Given the description of an element on the screen output the (x, y) to click on. 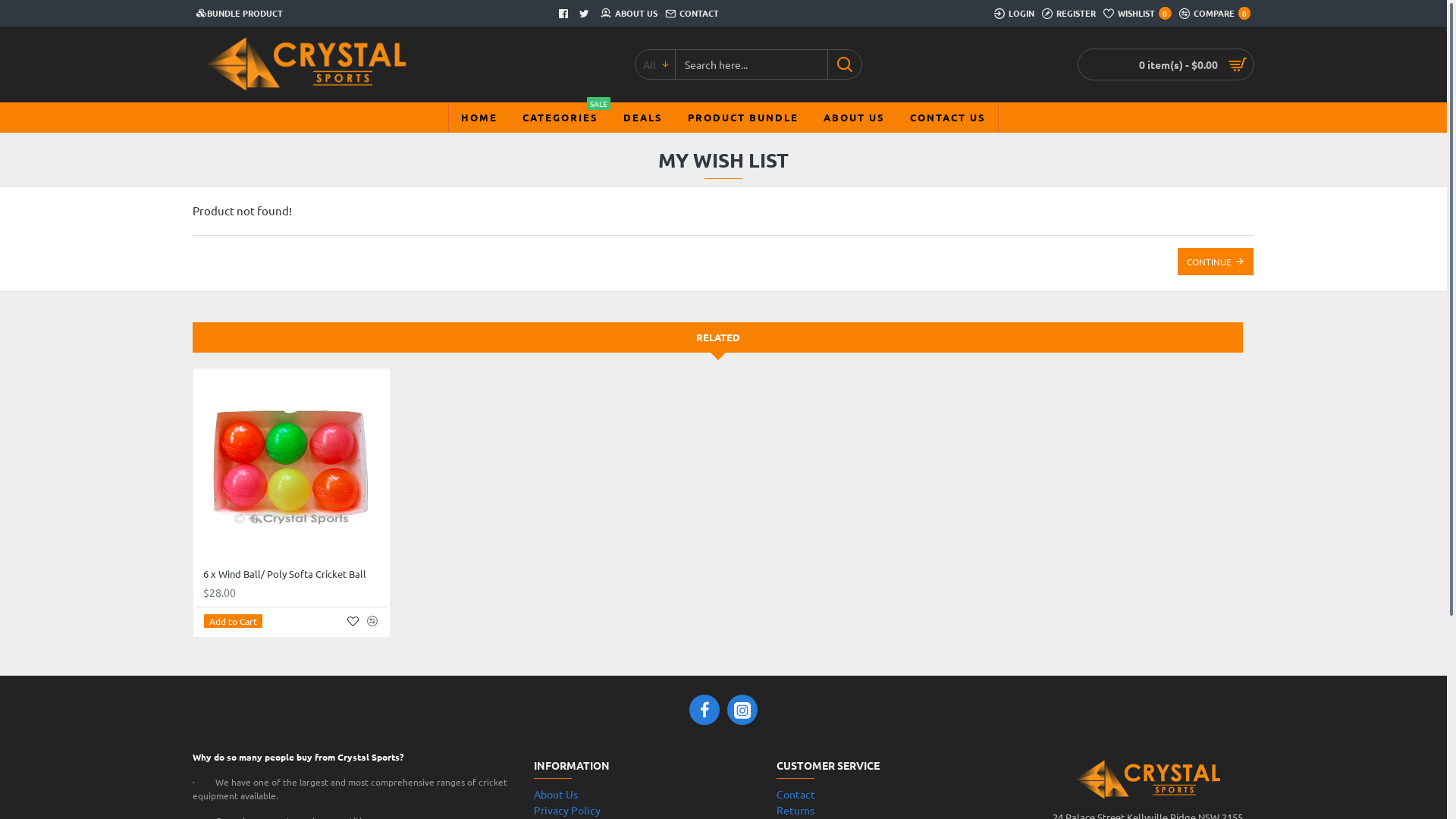
HOME Element type: text (478, 117)
COMPARE
0 Element type: text (1215, 13)
Privacy Policy Element type: text (566, 810)
DEALS Element type: text (642, 117)
Add to Cart Element type: text (233, 620)
RELATED Element type: text (717, 337)
ABOUT US Element type: text (628, 13)
About Us Element type: text (555, 794)
WISHLIST
0 Element type: text (1137, 13)
6 x Wind Ball/ Poly Softa Cricket Ball Element type: text (284, 573)
0 item(s) - $0.00 Element type: text (1165, 64)
CATEGORIES
SALE Element type: text (559, 117)
CONTACT Element type: text (691, 13)
ABOUT US Element type: text (853, 117)
LOGIN Element type: text (1014, 13)
CONTINUE Element type: text (1215, 261)
Contact Element type: text (795, 794)
BUNDLE PRODUCT Element type: text (239, 13)
REGISTER Element type: text (1068, 13)
CONTACT US Element type: text (947, 117)
PRODUCT BUNDLE Element type: text (742, 117)
Crystal Sports Element type: hover (306, 64)
6 x Wind Ball/ Poly Softa Cricket Ball Element type: hover (291, 466)
Returns Element type: text (795, 810)
